Given the description of an element on the screen output the (x, y) to click on. 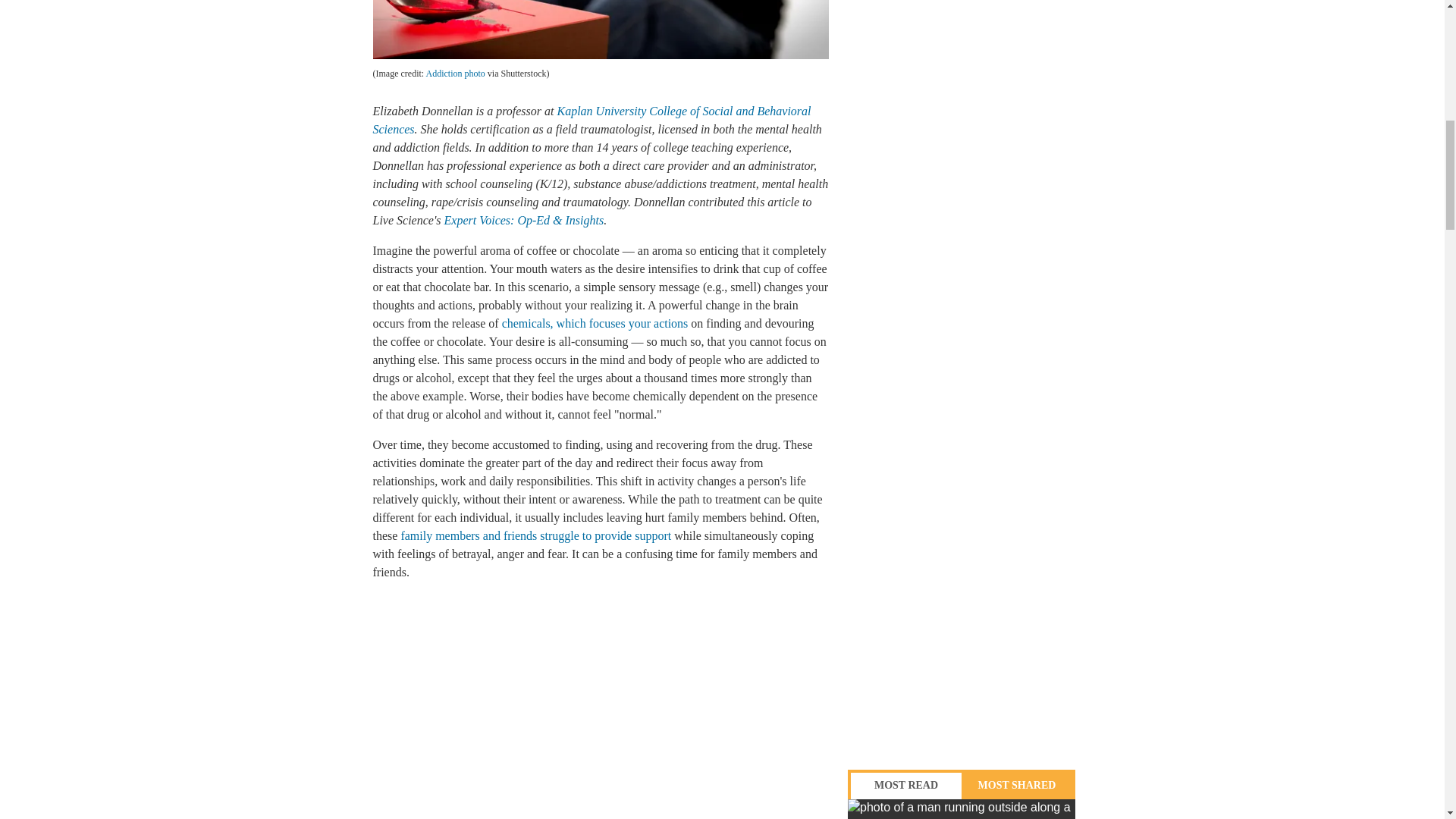
What causes you to get a 'stitch in your side'? (961, 809)
